Given the description of an element on the screen output the (x, y) to click on. 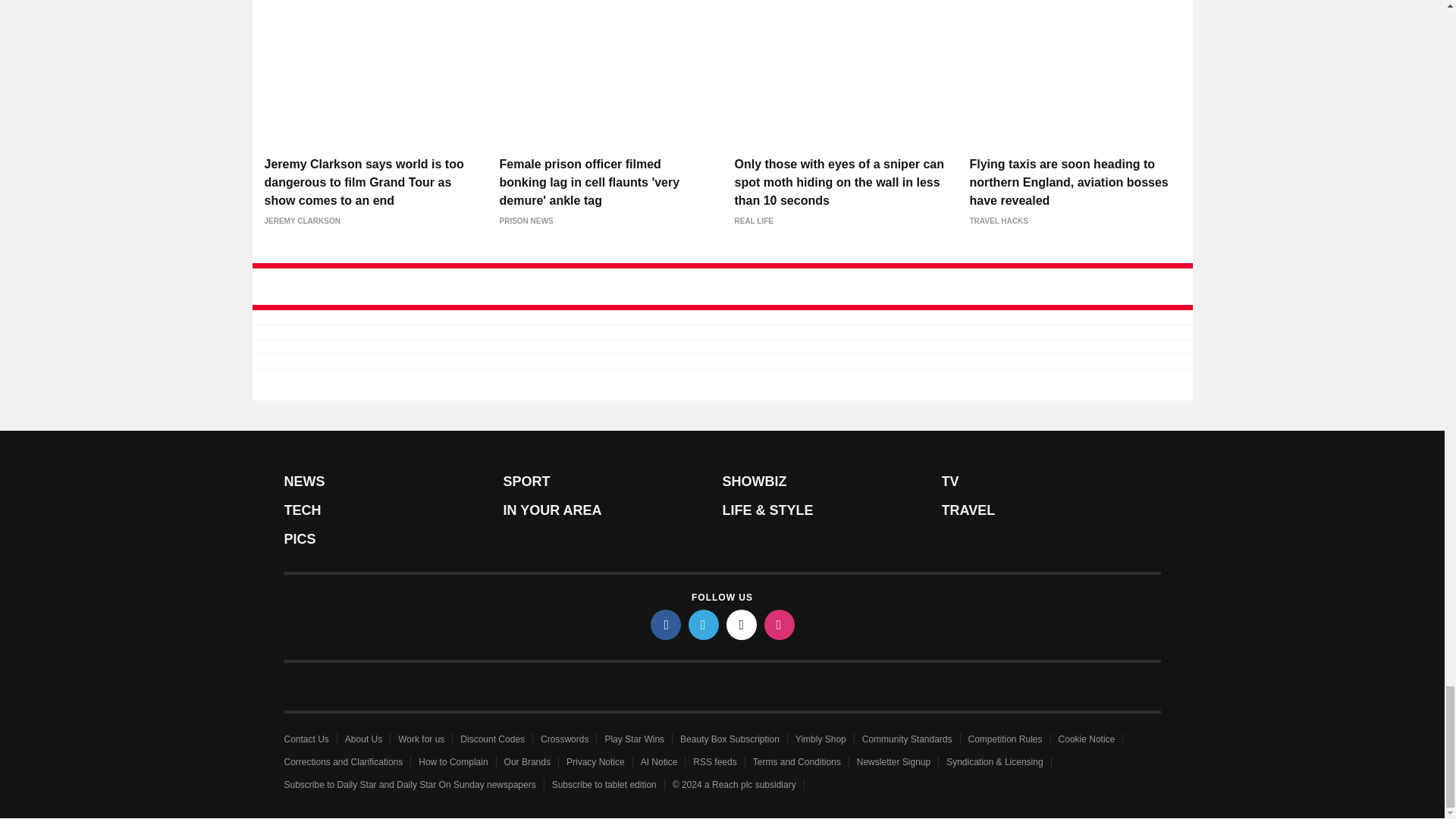
twitter (703, 624)
facebook (665, 624)
instagram (779, 624)
tiktok (741, 624)
